Given the description of an element on the screen output the (x, y) to click on. 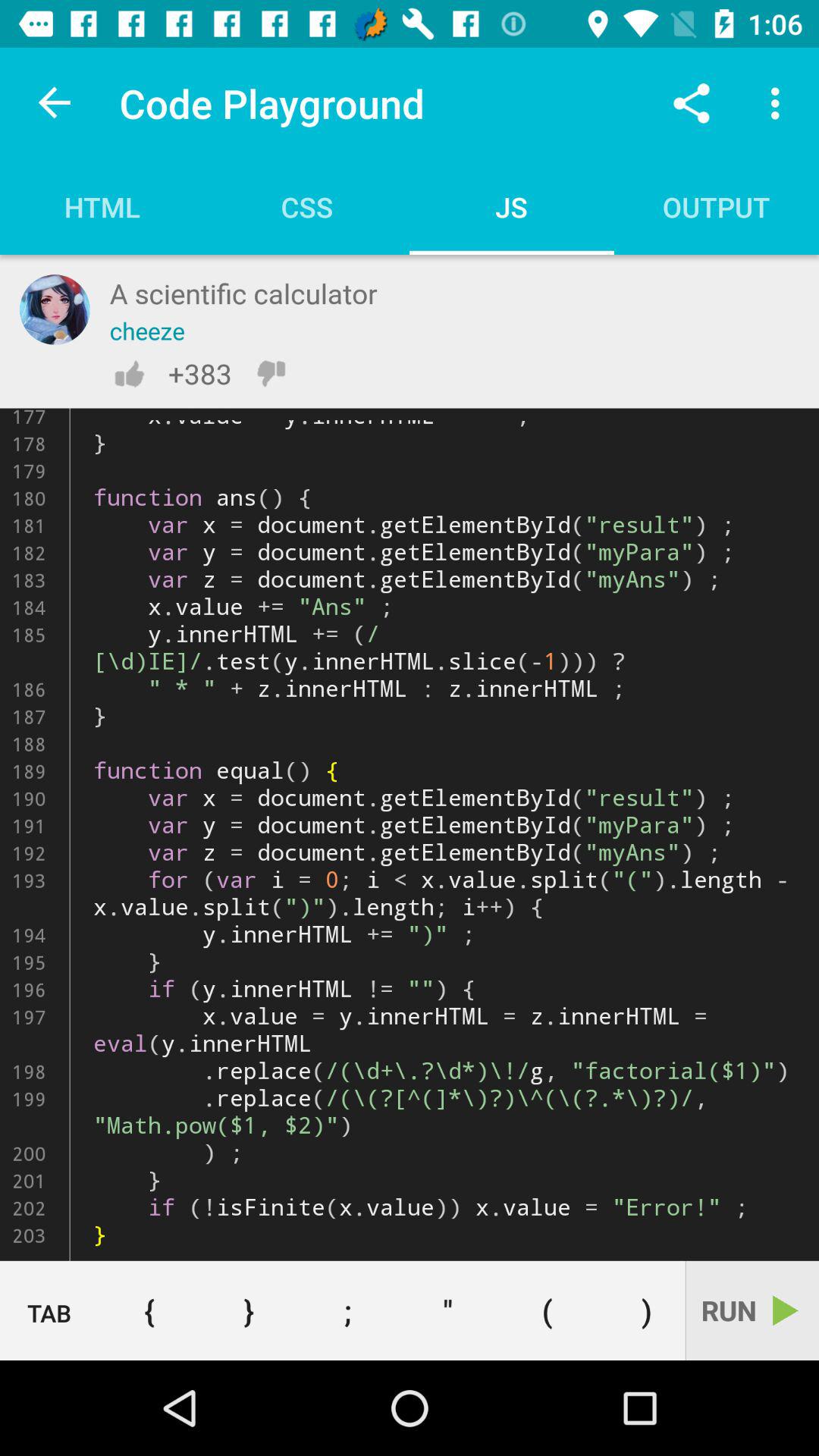
press the ) (641, 1310)
